Given the description of an element on the screen output the (x, y) to click on. 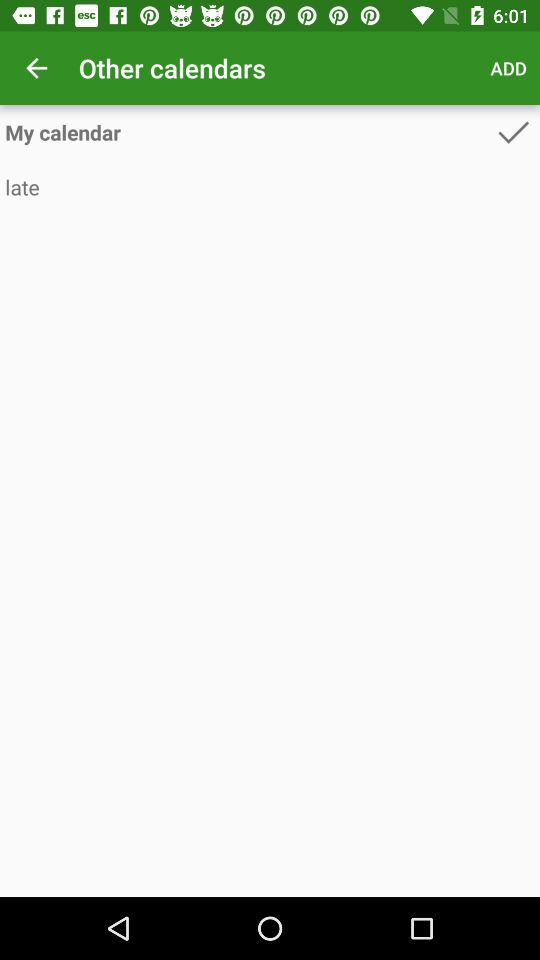
turn off app next to other calendars icon (36, 68)
